Given the description of an element on the screen output the (x, y) to click on. 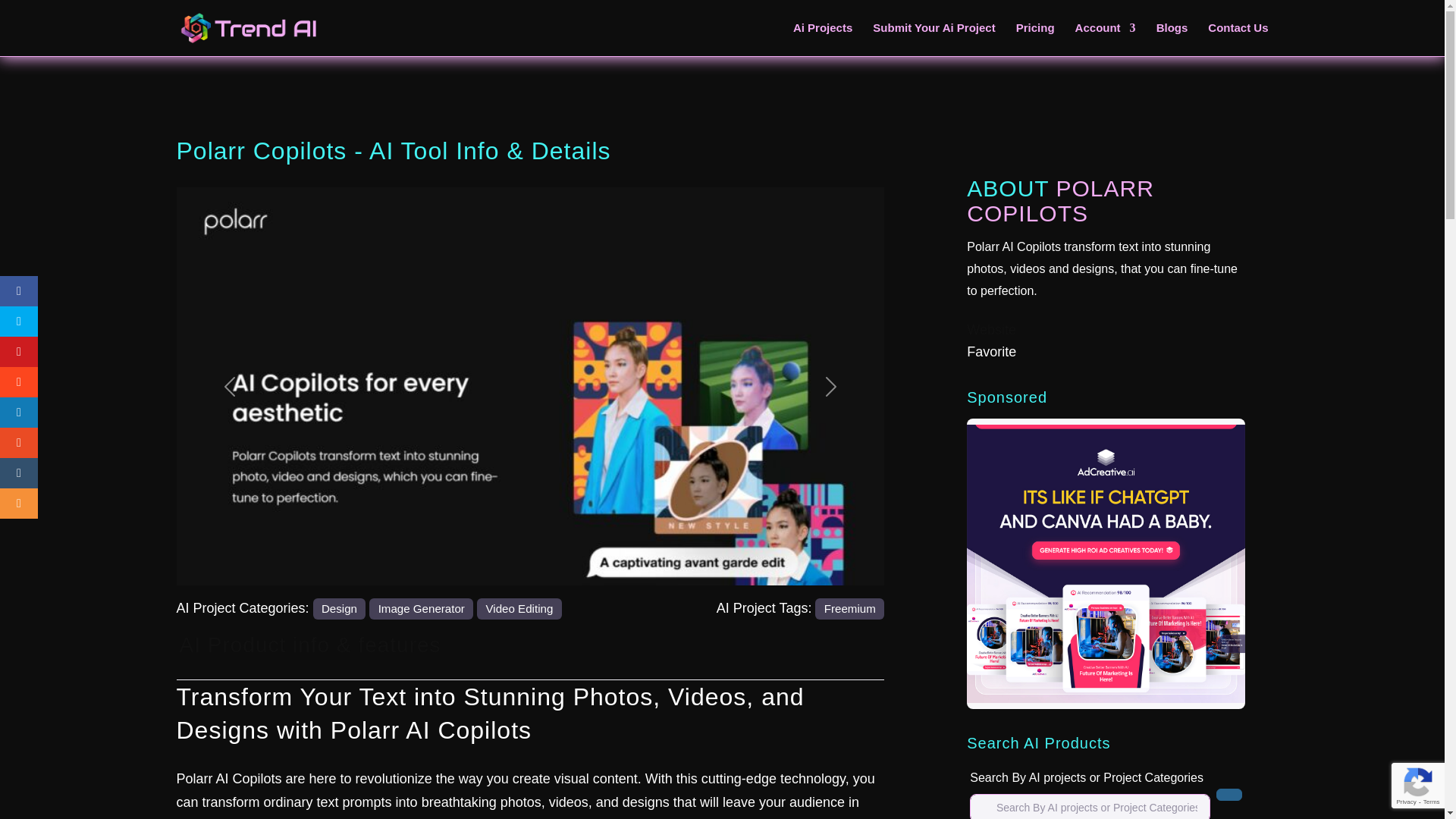
Ai Projects (822, 39)
Search (1228, 794)
Contact Us (1238, 39)
Video Editing (518, 608)
Image Generator (421, 608)
Website (991, 329)
Blogs (1172, 39)
Design (339, 608)
Account (1105, 39)
Freemium (849, 608)
Pricing (1035, 39)
Submit Your Ai Project (933, 39)
